Given the description of an element on the screen output the (x, y) to click on. 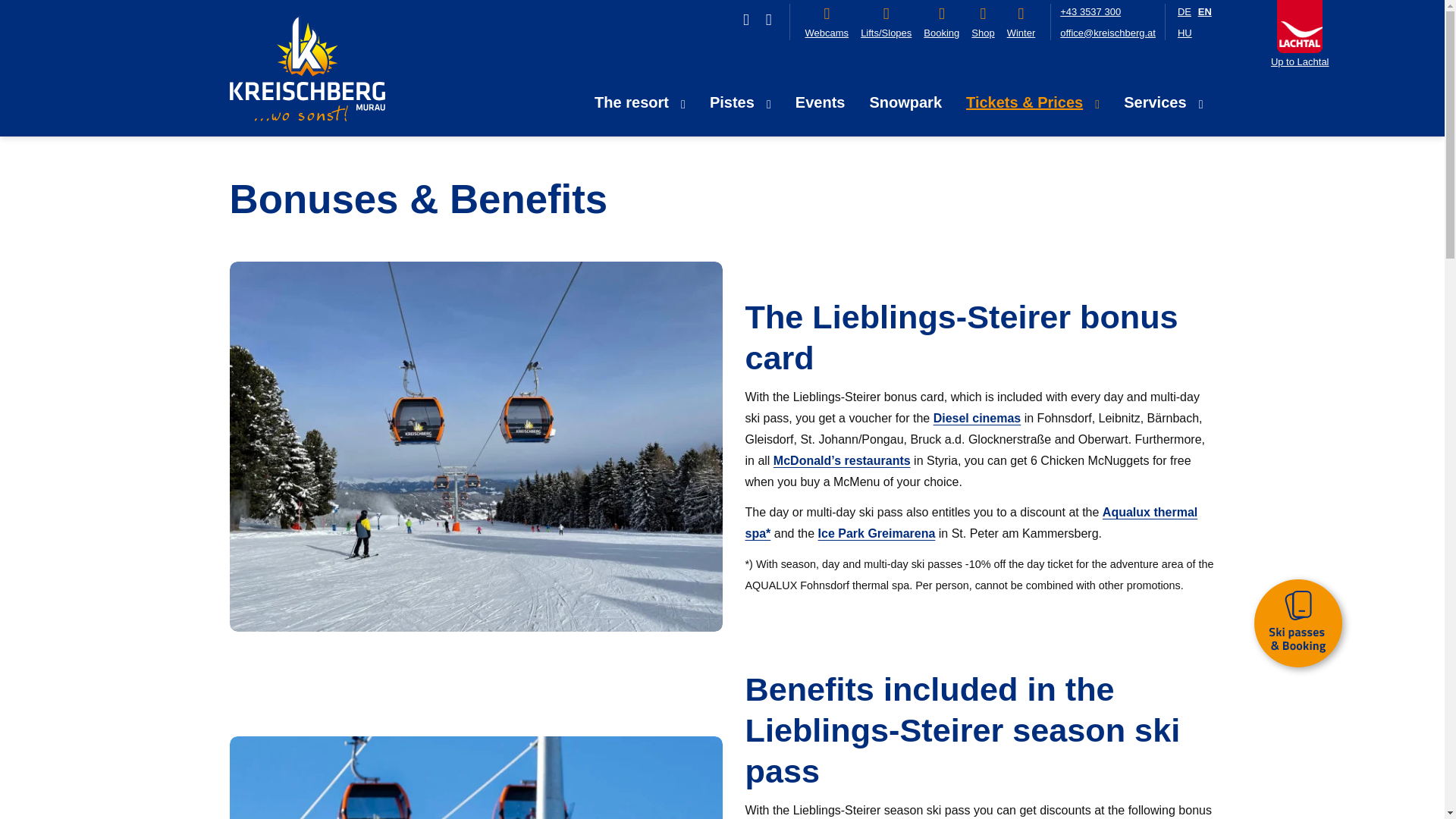
Events (820, 101)
Pistes (740, 101)
Webcams (826, 22)
HU (1184, 32)
DE (1184, 11)
Instagram (768, 19)
Up to Lachtal (1300, 61)
EN (1204, 11)
Booking (941, 22)
Facebook (746, 19)
